Given the description of an element on the screen output the (x, y) to click on. 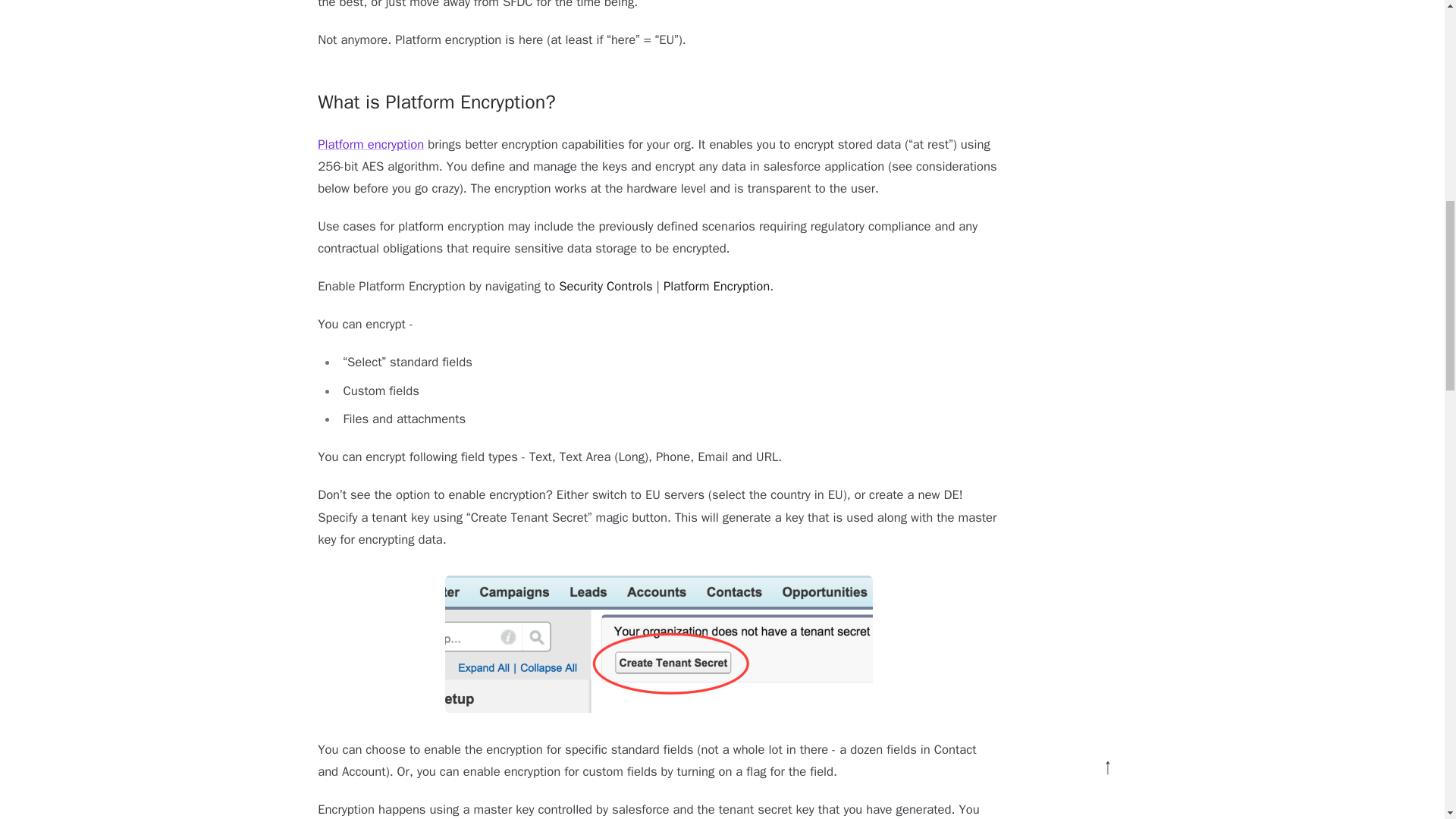
Platform encryption (370, 144)
